Given the description of an element on the screen output the (x, y) to click on. 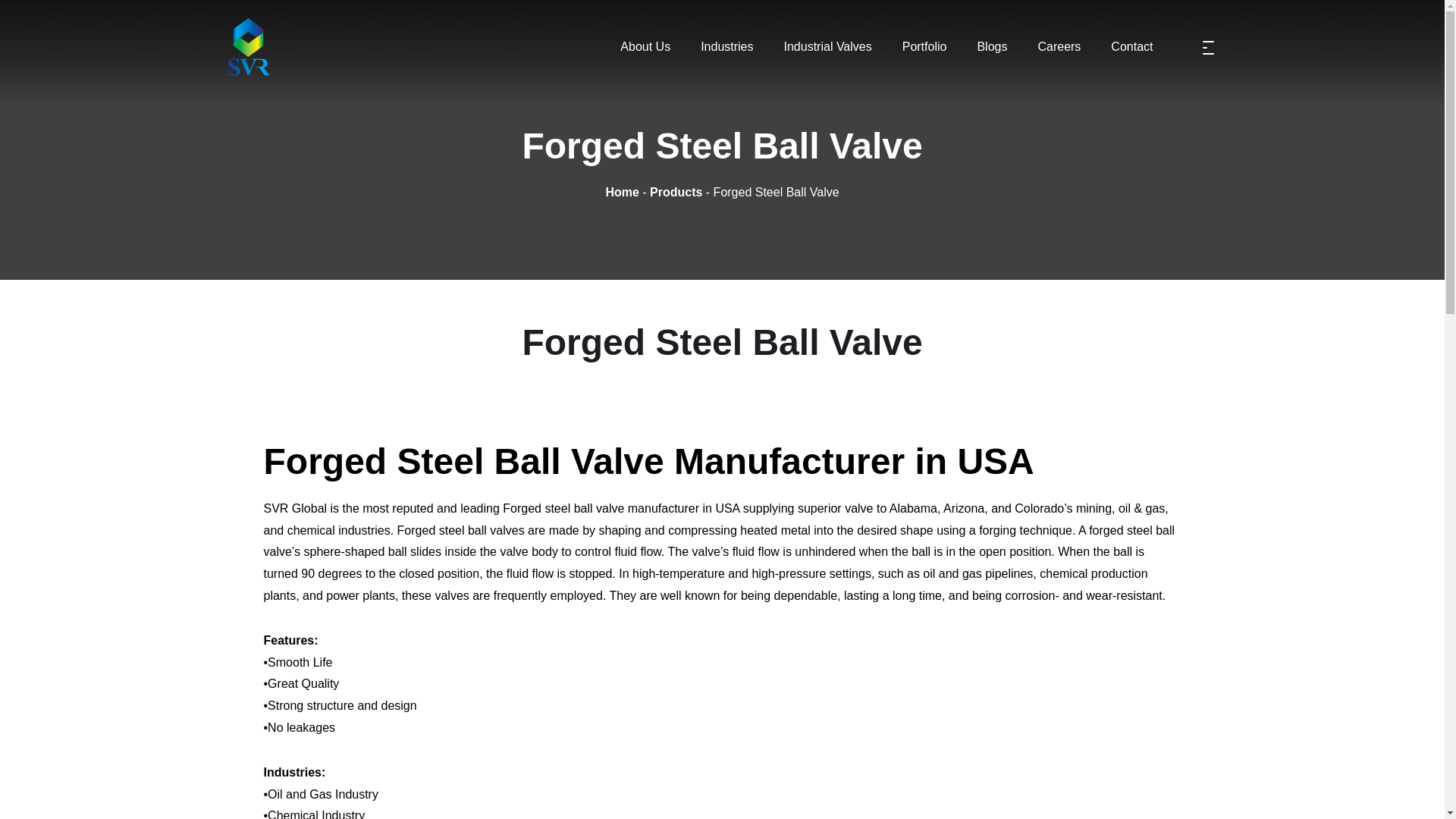
Industries (726, 47)
Industrial Valves (827, 47)
About Us (645, 47)
